Given the description of an element on the screen output the (x, y) to click on. 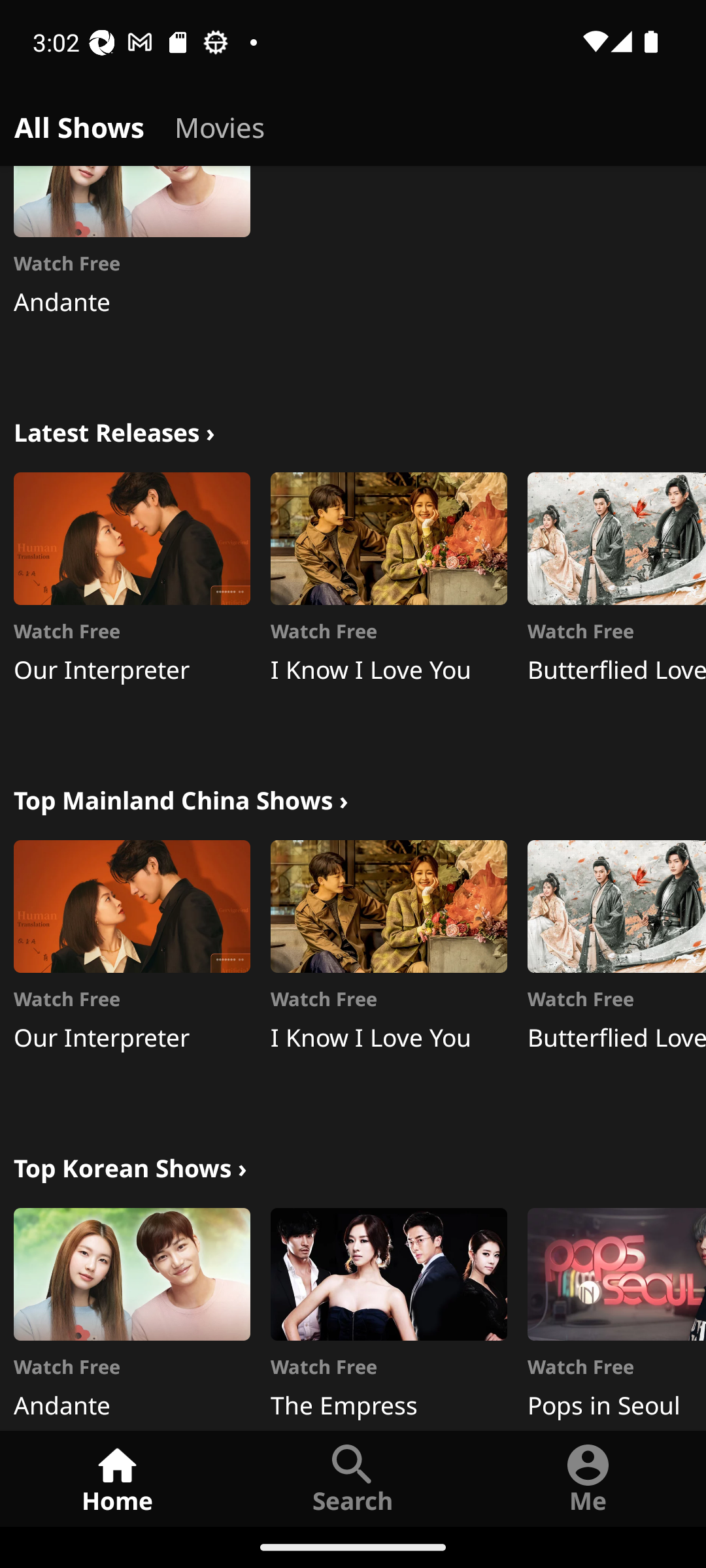
home_tab_movies Movies (219, 124)
Latest Releases › all_new (114, 430)
Top Mainland China Shows › china_trending (180, 797)
Top Korean Shows › korean_trending (130, 1165)
Search (352, 1478)
Me (588, 1478)
